Given the description of an element on the screen output the (x, y) to click on. 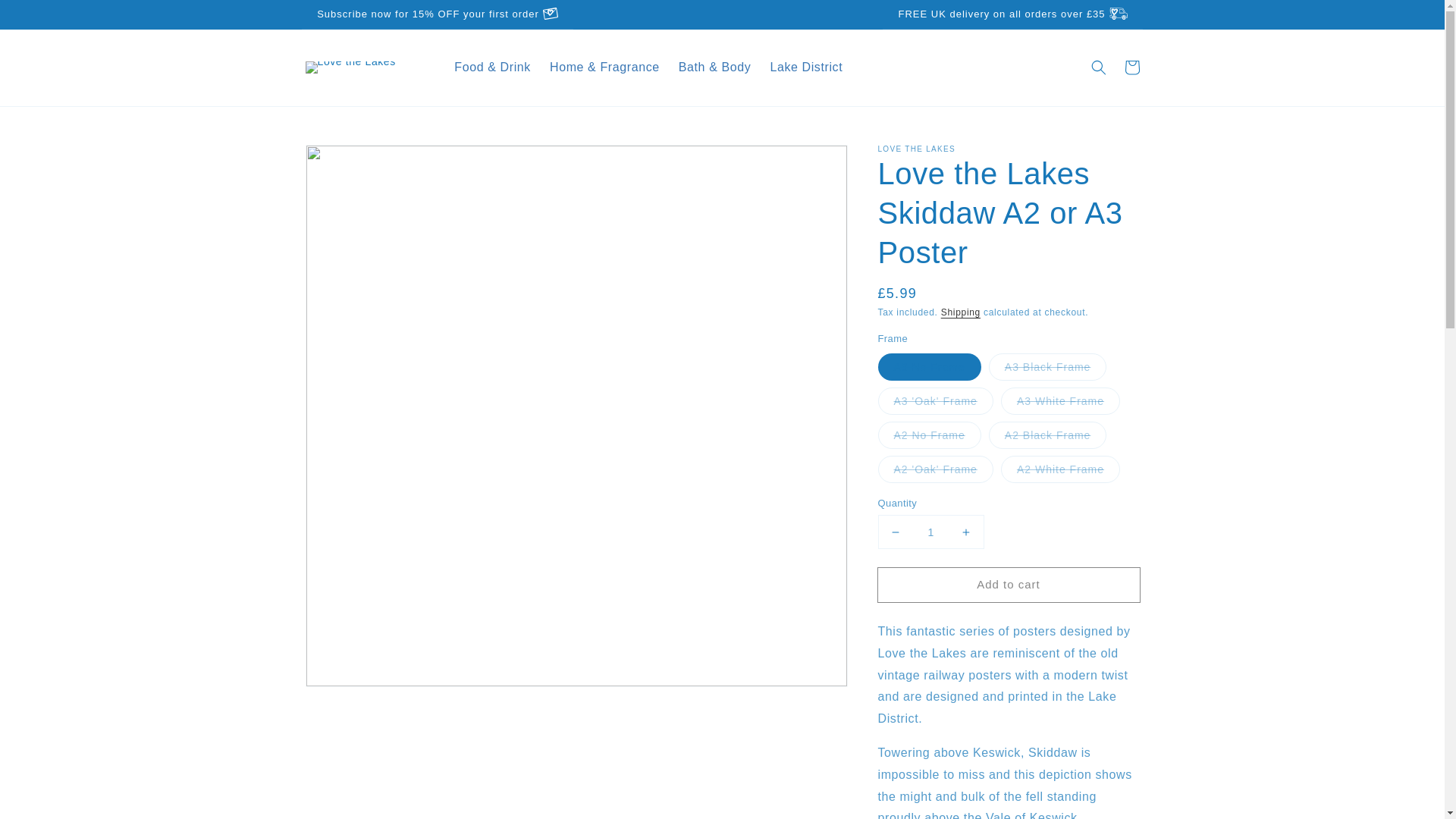
1 (930, 531)
Skip to content (45, 16)
